Given the description of an element on the screen output the (x, y) to click on. 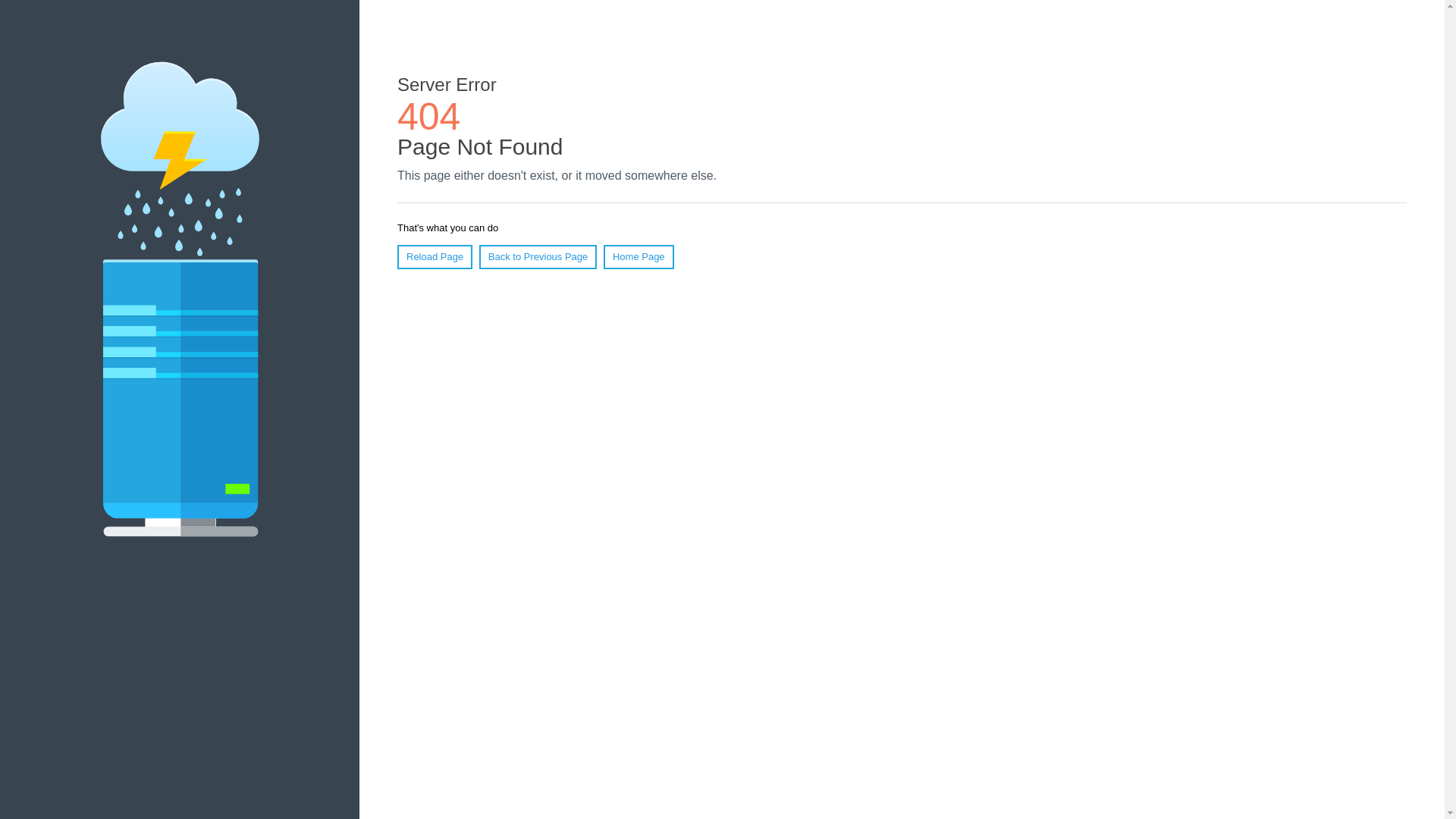
Home Page Element type: text (638, 256)
Back to Previous Page Element type: text (538, 256)
Reload Page Element type: text (434, 256)
